Given the description of an element on the screen output the (x, y) to click on. 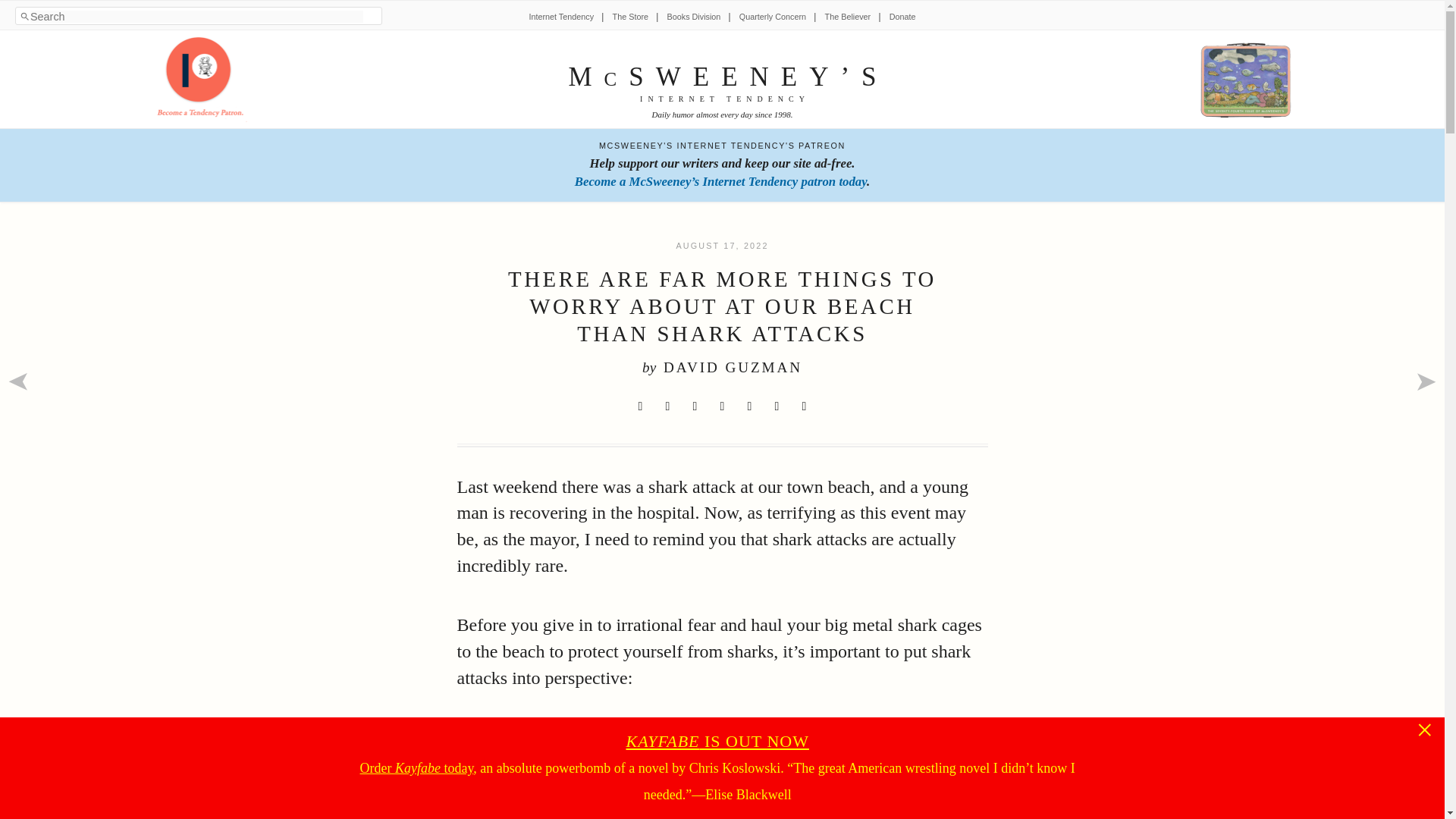
Books Division (693, 16)
Donate (902, 16)
The Store (629, 16)
Quarterly Concern (772, 16)
Share to Bluesky (722, 405)
Share to Facebook (667, 405)
Copy to Clipboard (804, 405)
Share to Email (777, 405)
Share to X (640, 405)
Share to Reddit (695, 405)
